Given the description of an element on the screen output the (x, y) to click on. 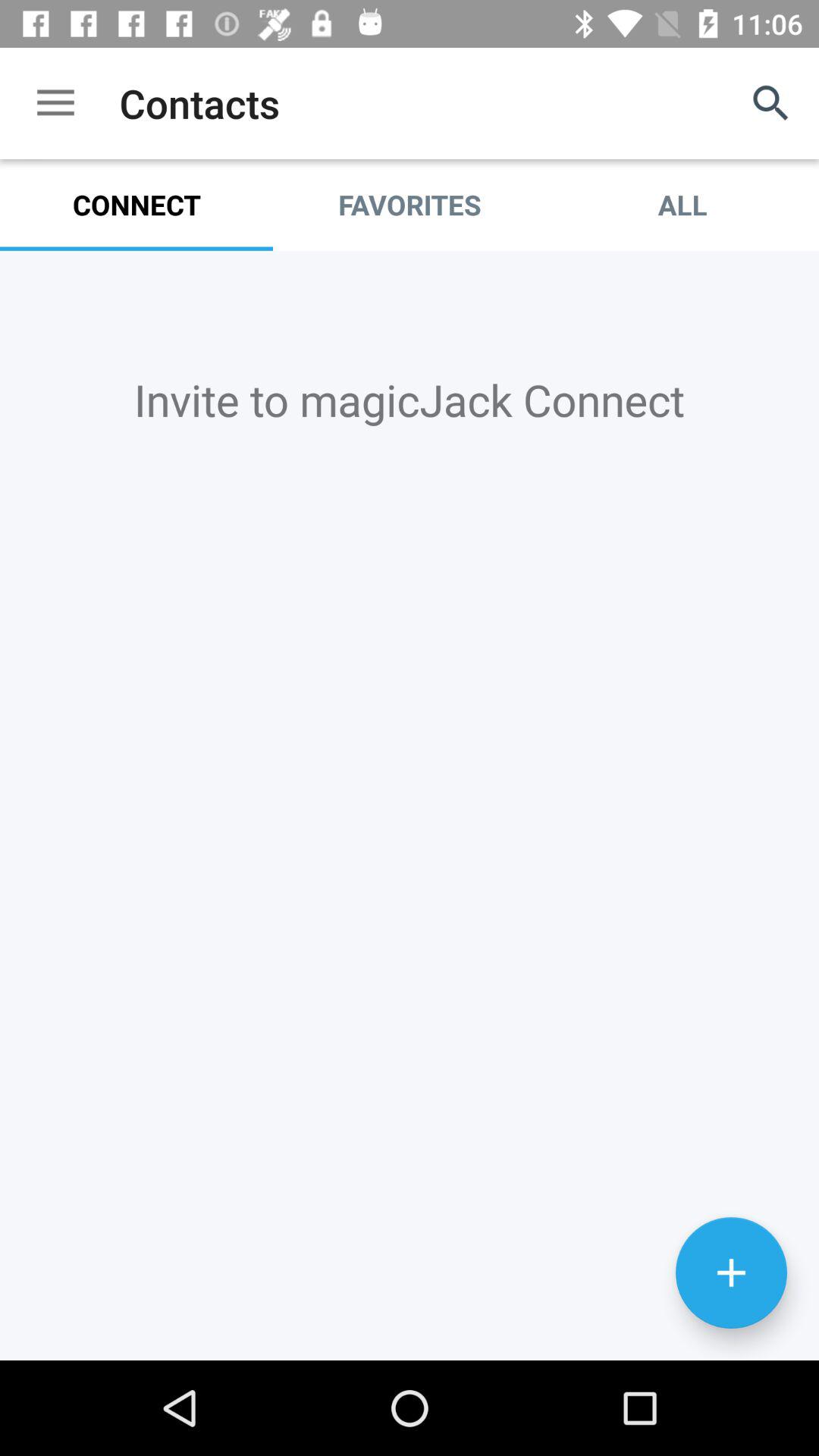
choose icon next to the contacts app (55, 103)
